Given the description of an element on the screen output the (x, y) to click on. 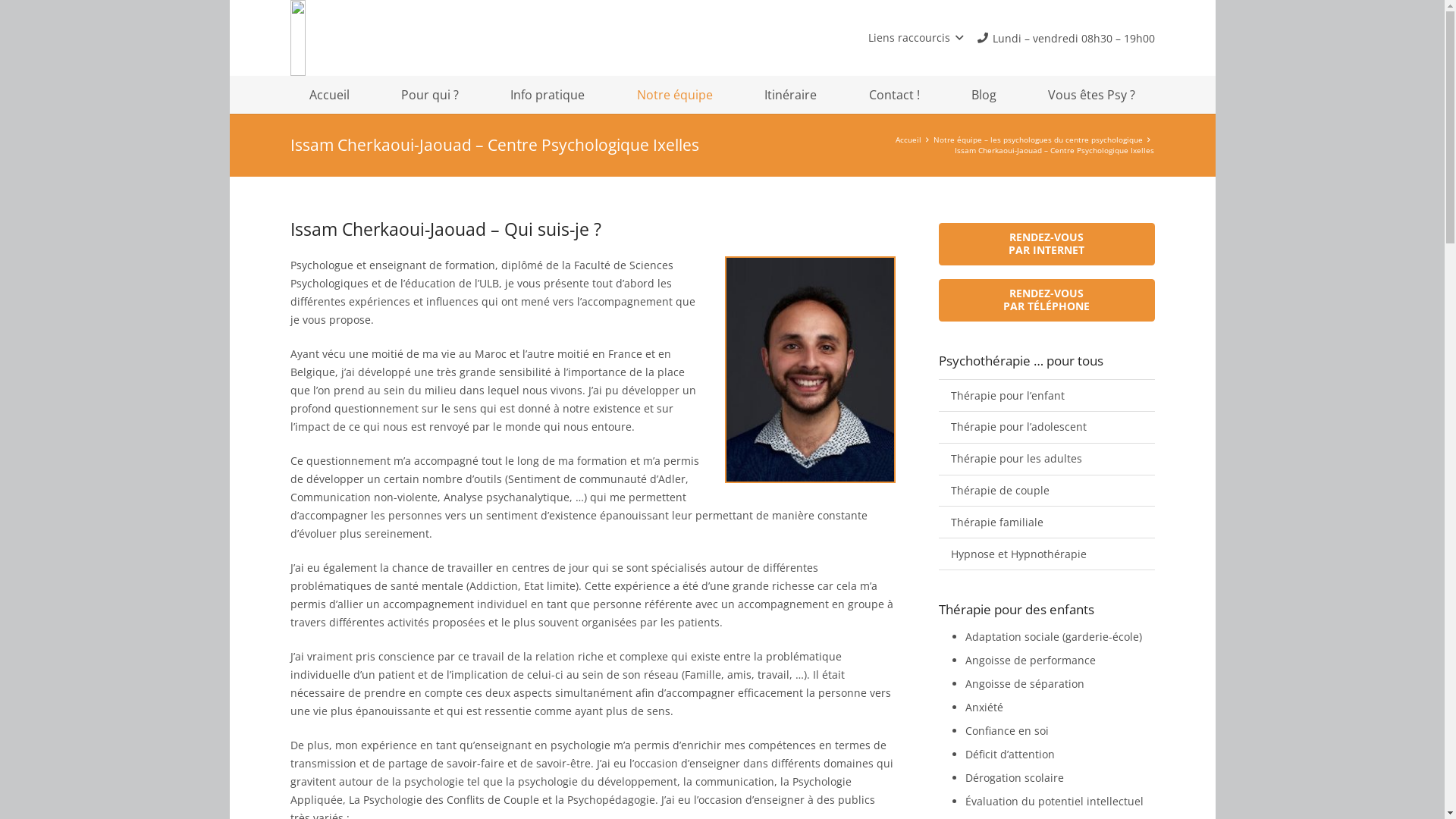
RENDEZ-VOUS
PAR INTERNET Element type: text (1046, 243)
Blog Element type: text (983, 94)
Pour qui ? Element type: text (429, 94)
Liens raccourcis Element type: text (915, 37)
Contact ! Element type: text (894, 94)
Info pratique Element type: text (547, 94)
Accueil Element type: text (328, 94)
Accueil Element type: text (908, 139)
